Given the description of an element on the screen output the (x, y) to click on. 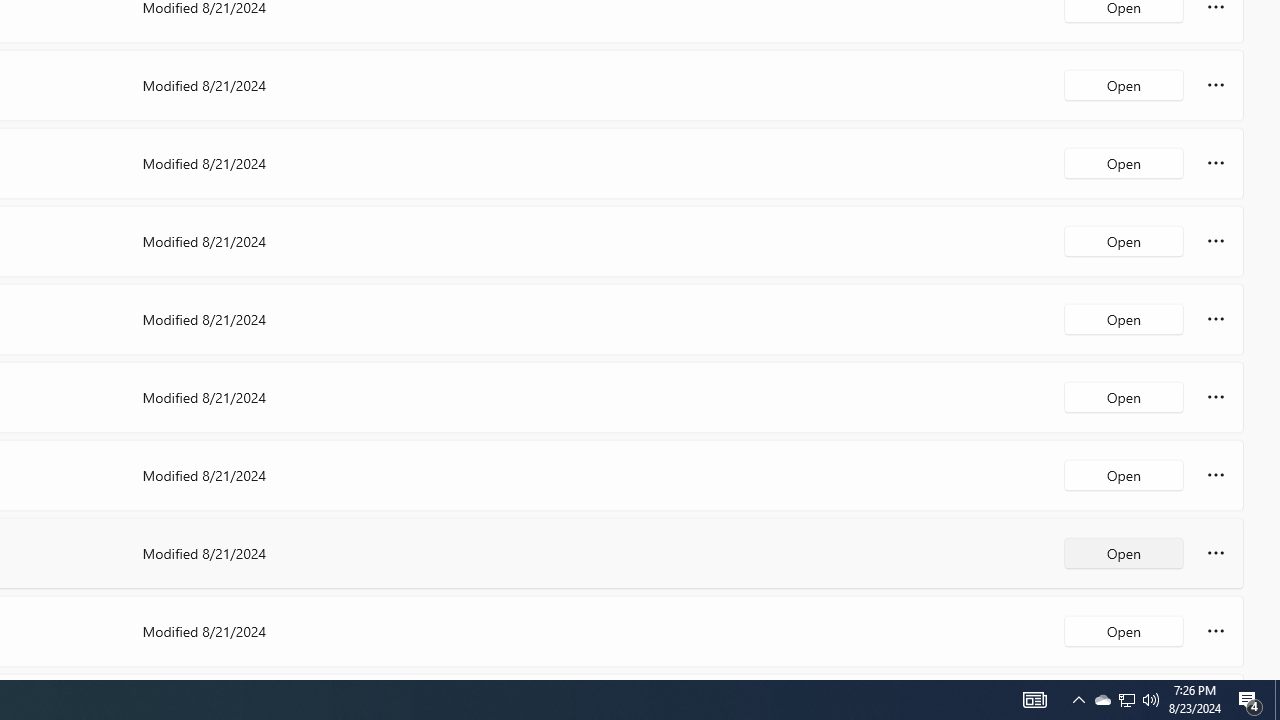
Open (1123, 630)
More options (1215, 630)
